Given the description of an element on the screen output the (x, y) to click on. 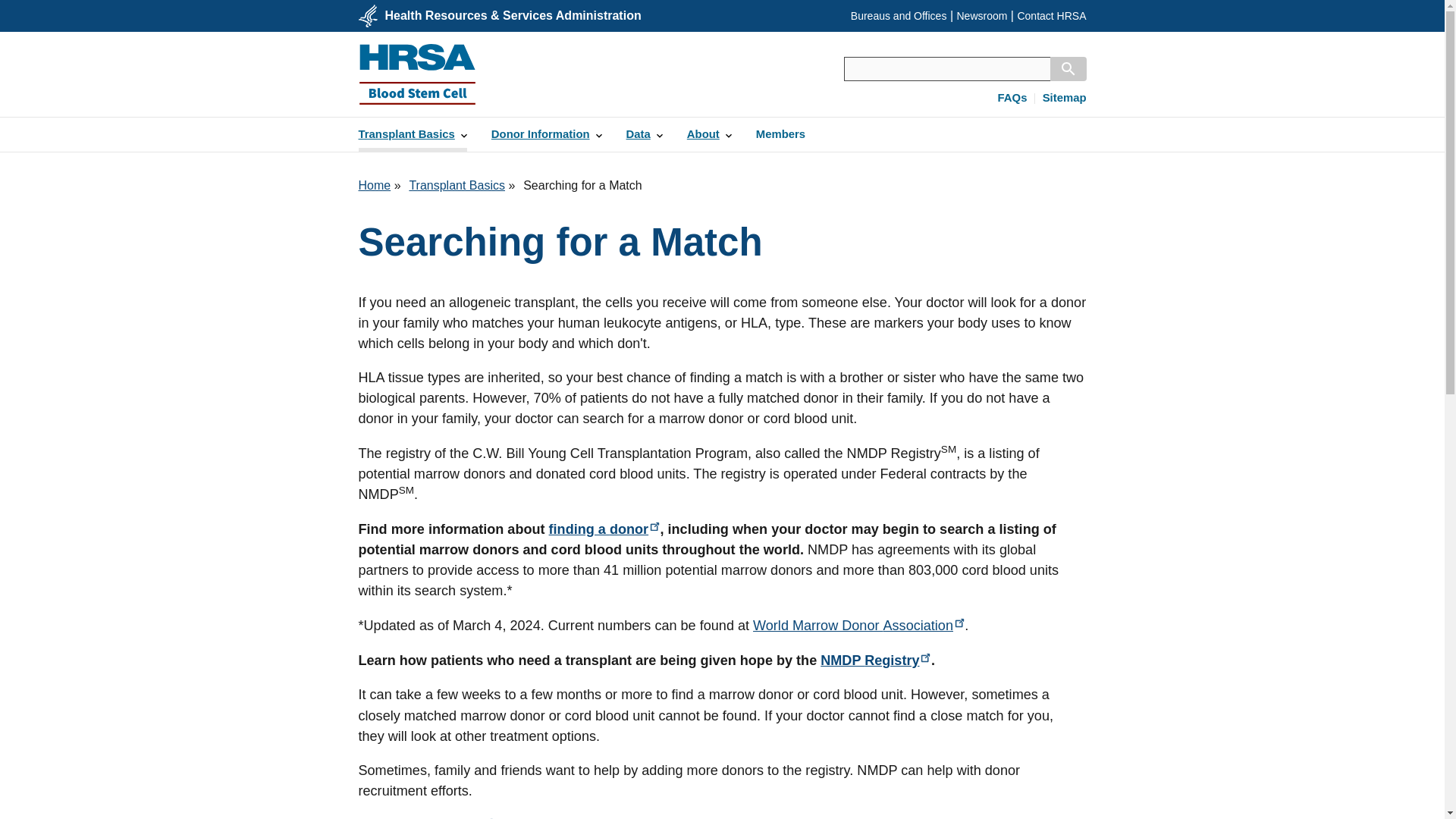
About (709, 134)
Bureaus and Offices (898, 15)
HRSA Bureaus and Offices (898, 15)
Newsroom (981, 15)
HRSA Blood Stem Cell Home (417, 74)
FAQs (1012, 98)
Transplant Basics (457, 185)
Contact HRSA (1051, 15)
Enter the terms you wish to search for. (946, 68)
Sitemap (1064, 98)
